Given the description of an element on the screen output the (x, y) to click on. 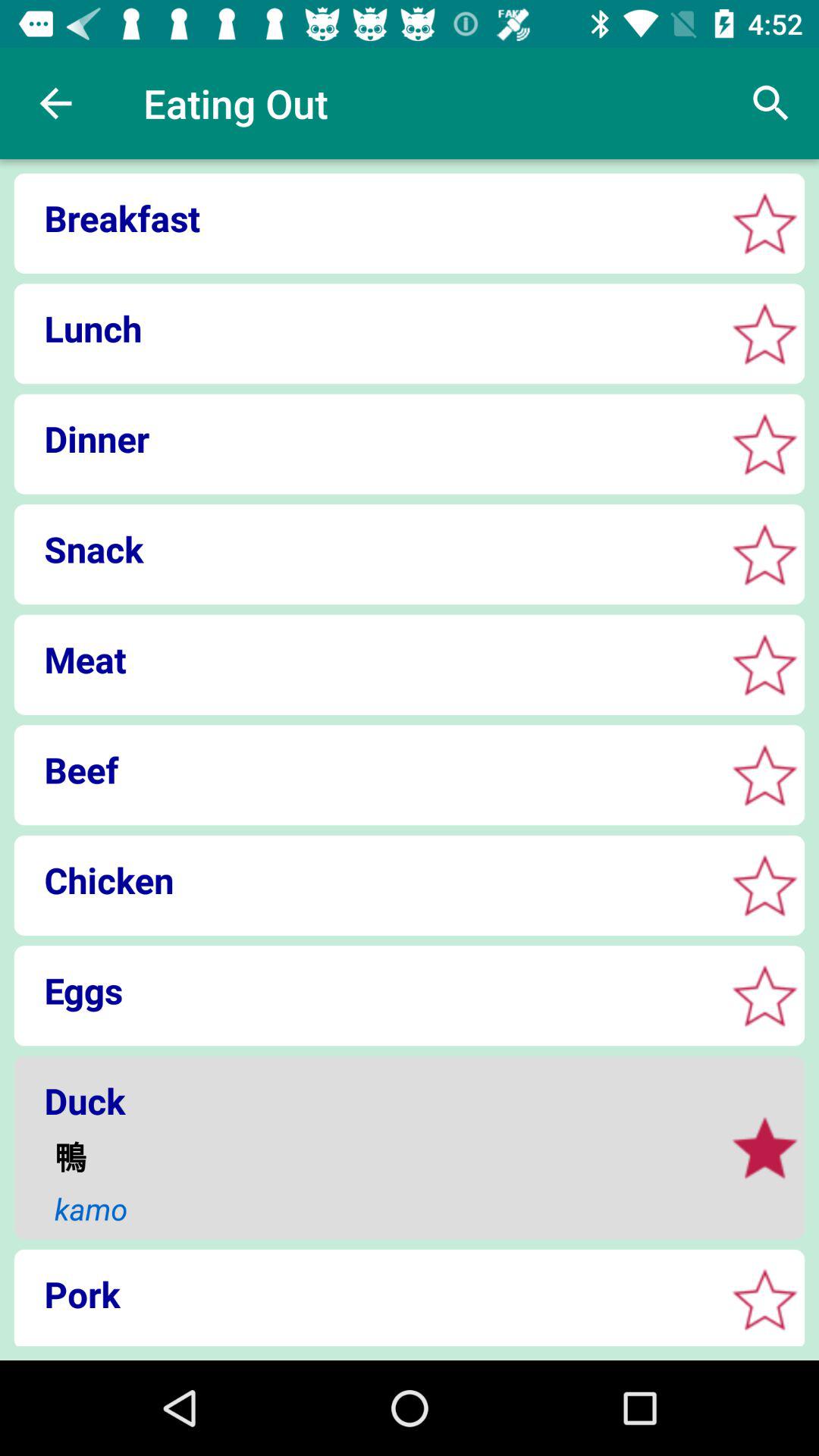
press snack (364, 548)
